Given the description of an element on the screen output the (x, y) to click on. 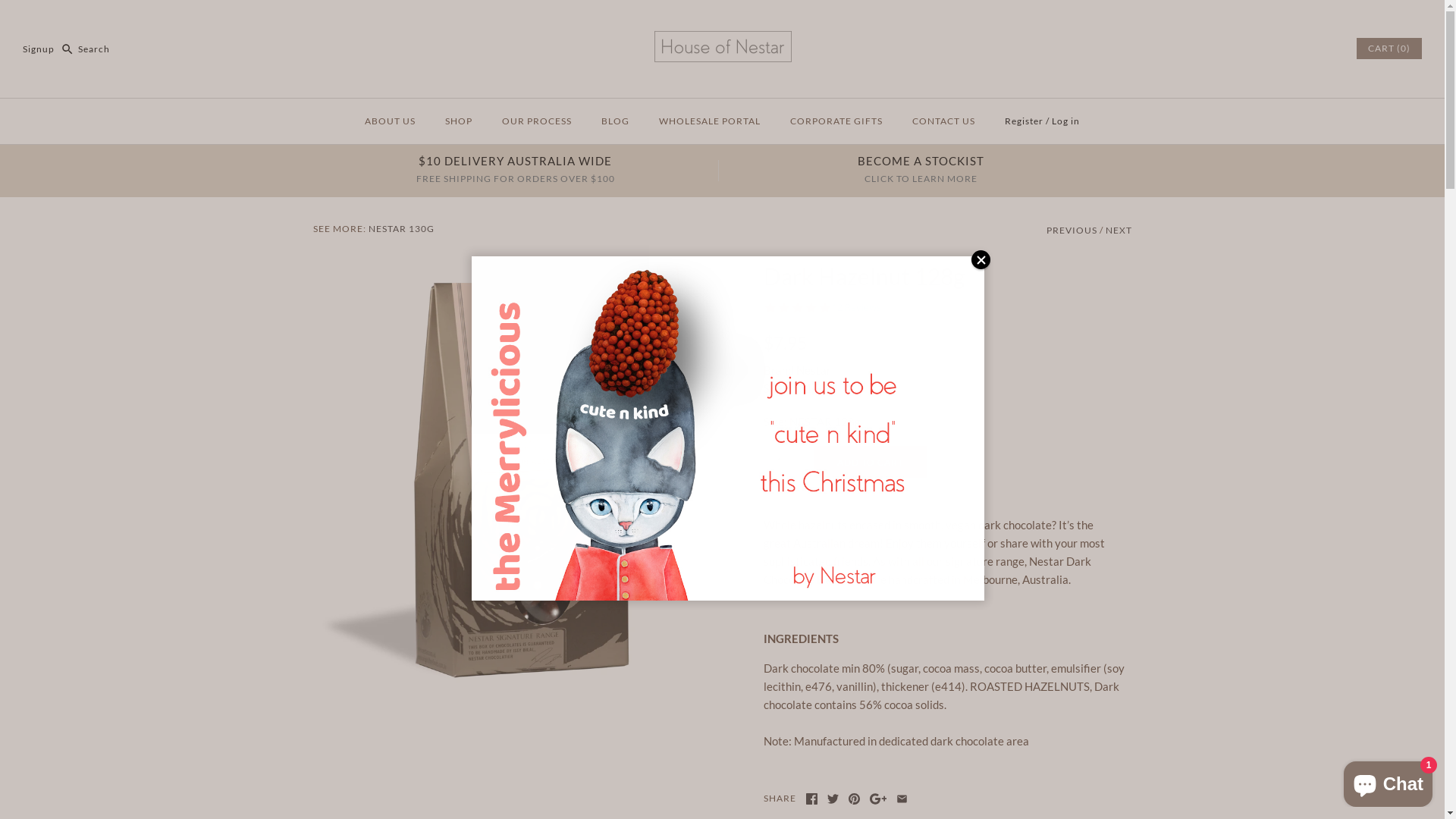
CORPORATE GIFTS Element type: text (836, 121)
ABOUT US Element type: text (390, 121)
Signup Element type: text (38, 47)
Log in Element type: text (1065, 121)
Shopify online store chat Element type: hover (1388, 780)
OUR PROCESS Element type: text (536, 121)
Facebook Element type: text (810, 798)
Dark Hazelnut 128g Element type: hover (473, 271)
BECOME A STOCKIST
CLICK TO LEARN MORE Element type: text (920, 169)
Add to Cart Element type: text (869, 461)
Buy Now Element type: text (293, 693)
CART (0) Element type: text (1388, 48)
Twitter Element type: text (831, 798)
SHOP Element type: text (458, 121)
Nestar Element type: text (813, 369)
Dark Hazelnut 128g Element type: hover (661, 287)
GooglePlus Element type: text (877, 798)
BLOG Element type: text (615, 121)
NEXT Element type: text (1118, 229)
Dark Hazelnut 128g Element type: hover (661, 335)
Nestar Chocolates Element type: hover (721, 24)
Email Element type: text (901, 798)
12 Reviews Element type: text (855, 307)
CONTACT US Element type: text (943, 121)
Pinterest Element type: text (853, 798)
WHOLESALE PORTAL Element type: text (709, 121)
Register Element type: text (1023, 121)
PREVIOUS Element type: text (1071, 229)
NESTAR 130G Element type: text (401, 228)
